Given the description of an element on the screen output the (x, y) to click on. 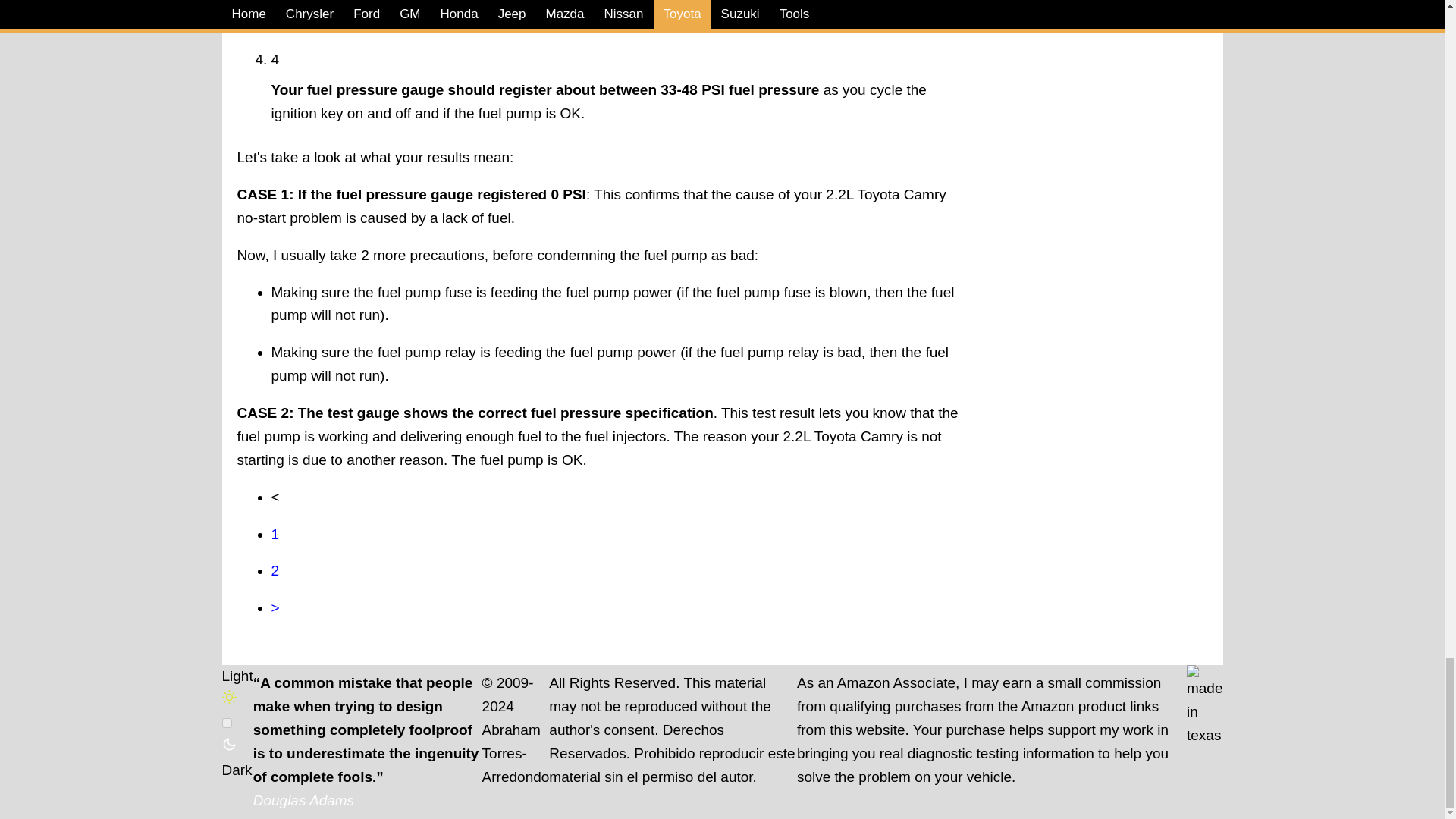
on (226, 723)
